Given the description of an element on the screen output the (x, y) to click on. 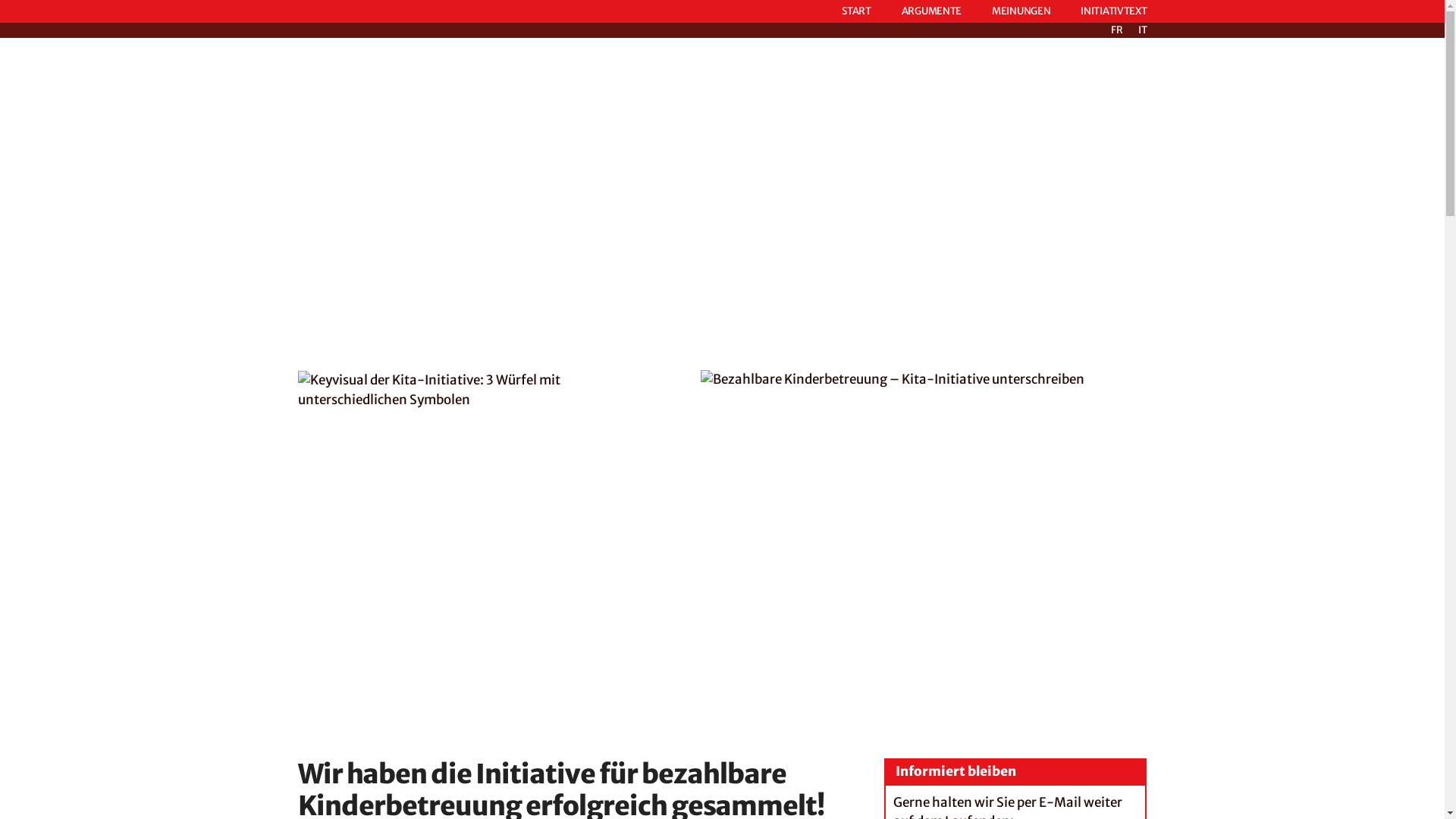
INITIATIVTEXT Element type: text (1113, 11)
MEINUNGEN Element type: text (1020, 11)
FR Element type: text (1115, 29)
IT Element type: text (1141, 29)
START Element type: text (856, 11)
ARGUMENTE Element type: text (931, 11)
